Given the description of an element on the screen output the (x, y) to click on. 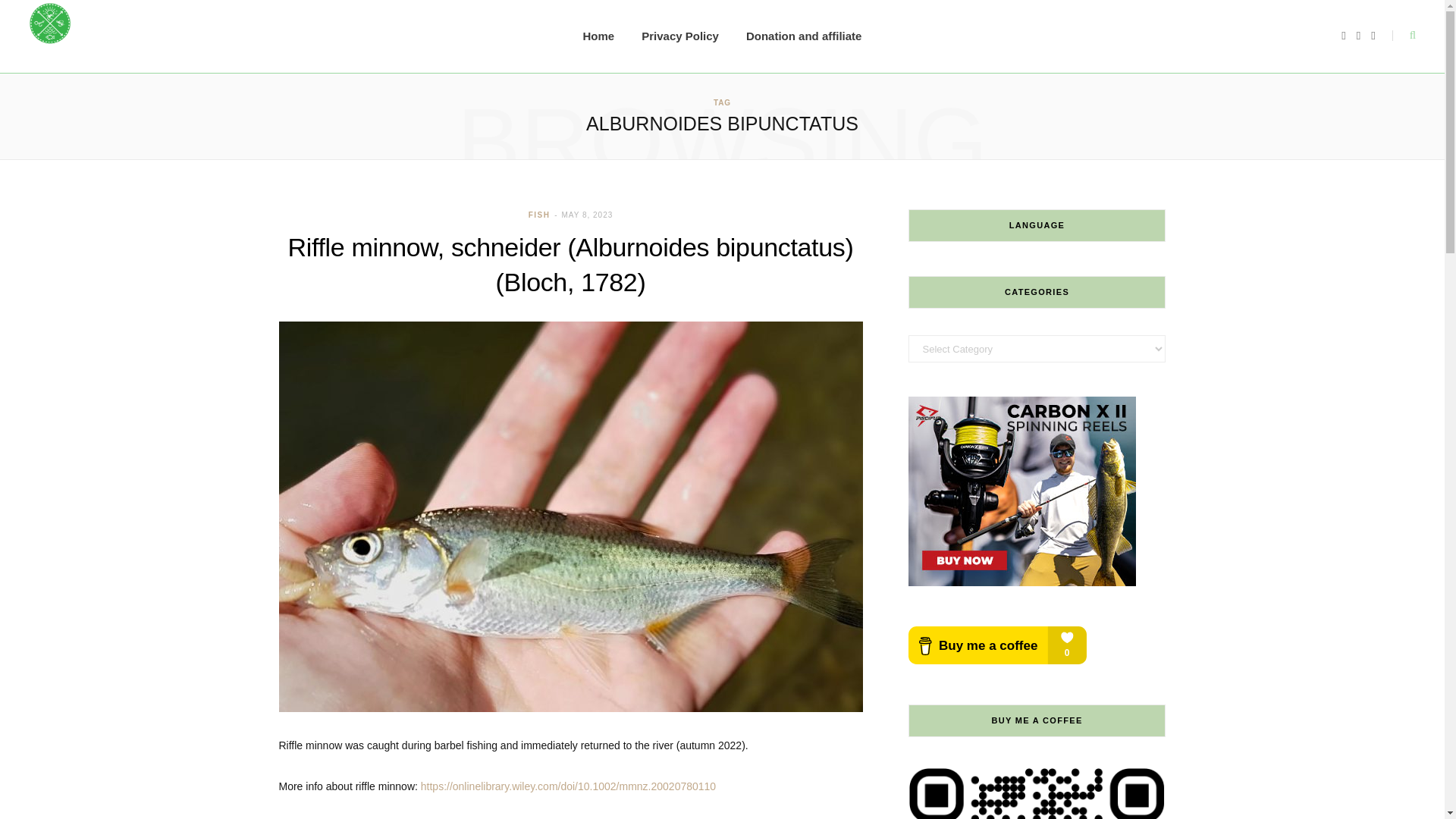
Search (1403, 36)
FR Blog (50, 36)
Home (598, 36)
FISH (539, 214)
Privacy Policy (679, 36)
Donation and affiliate (804, 36)
MAY 8, 2023 (586, 214)
RSS (1357, 35)
YouTube (1372, 35)
Instagram (1342, 35)
